Given the description of an element on the screen output the (x, y) to click on. 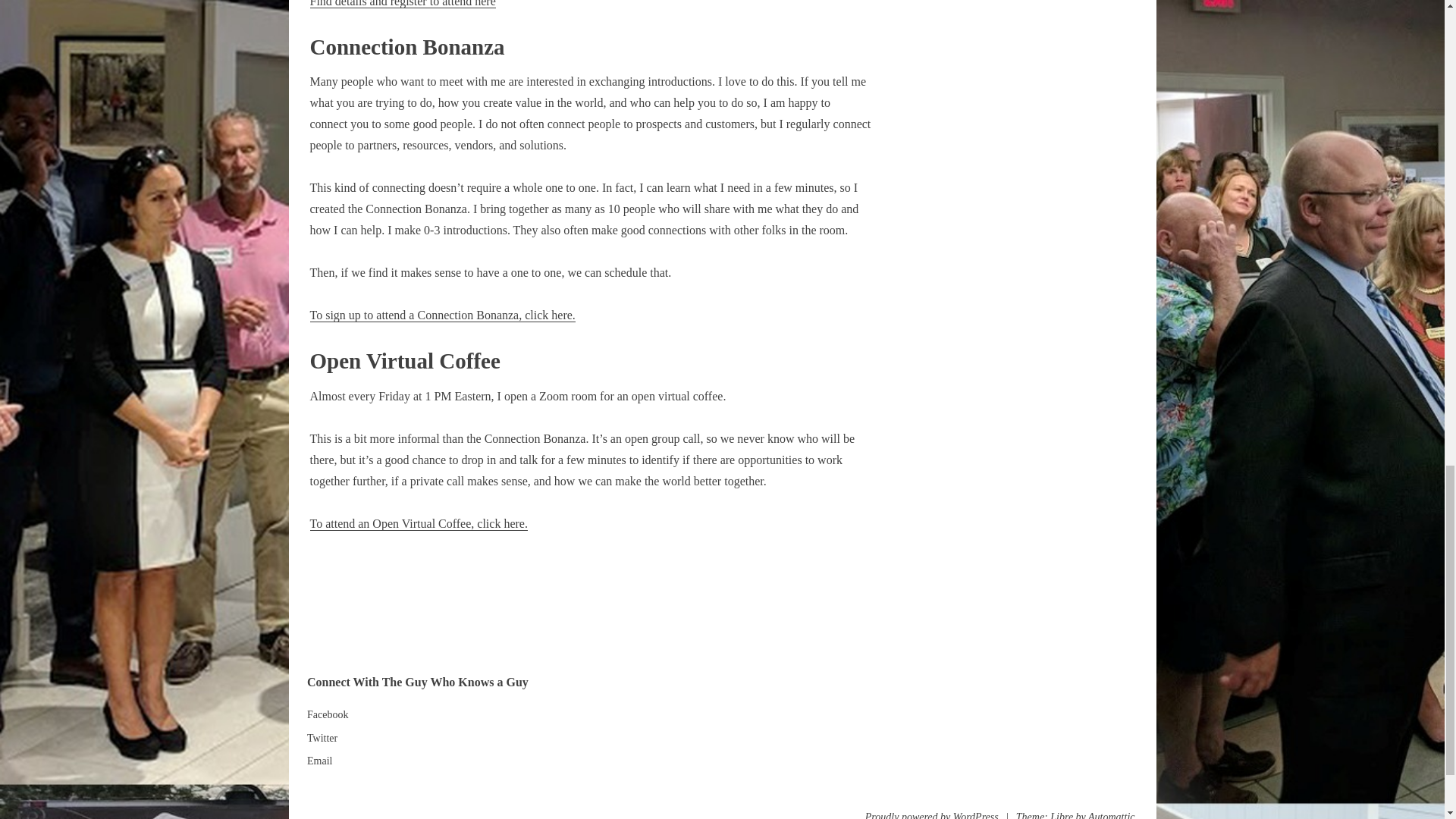
To sign up to attend a Connection Bonanza, click here. (441, 315)
Twitter (322, 737)
Email (319, 760)
Facebook (327, 714)
To attend an Open Virtual Coffee, click here. (417, 523)
Find details and register to attend here (401, 4)
